Given the description of an element on the screen output the (x, y) to click on. 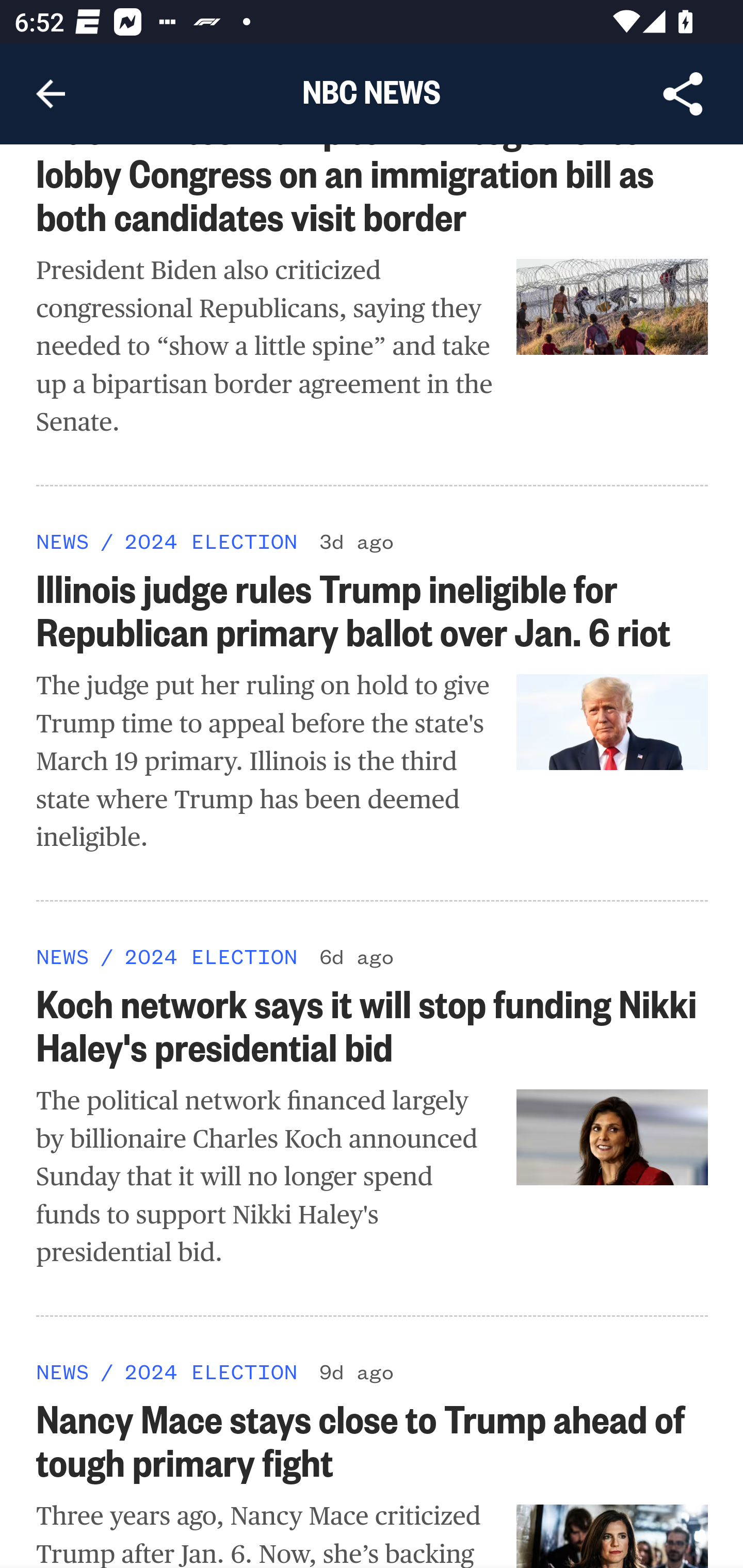
Navigate up (50, 93)
Share Article, button (683, 94)
NEWS NEWS NEWS (63, 541)
2024 ELECTION 2024 ELECTION 2024 ELECTION (209, 541)
NEWS NEWS NEWS (63, 956)
2024 ELECTION 2024 ELECTION 2024 ELECTION (209, 956)
NEWS NEWS NEWS (63, 1372)
2024 ELECTION 2024 ELECTION 2024 ELECTION (209, 1372)
